Given the description of an element on the screen output the (x, y) to click on. 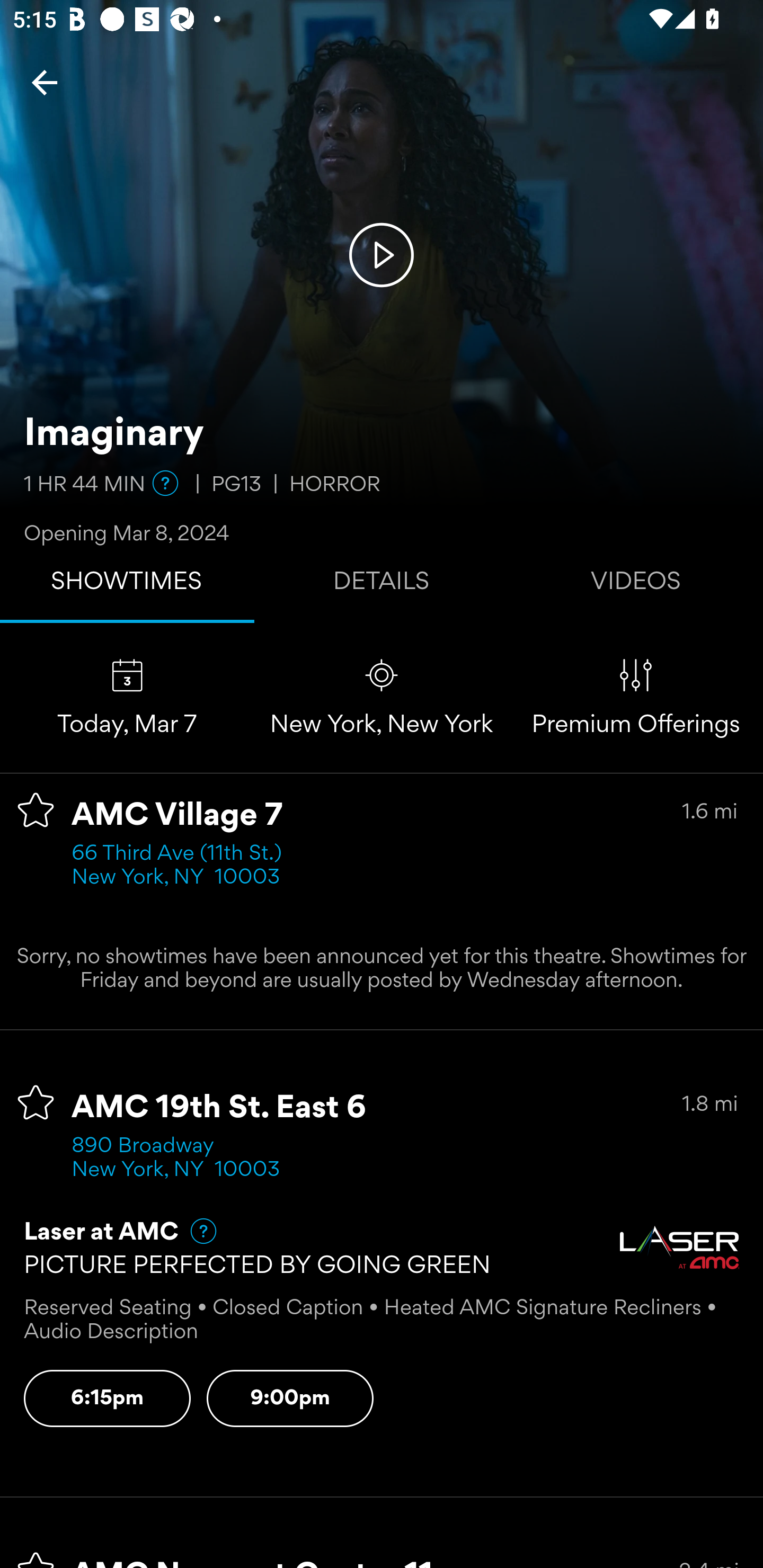
Back (44, 82)
Play (381, 254)
Help (165, 482)
SHOWTIMES
Tab 1 of 3 (127, 584)
DETAILS
Tab 2 of 3 (381, 584)
VIDEOS
Tab 3 of 3 (635, 584)
Change selected day
Today, Mar 7 (127, 697)
Change location
New York, New York (381, 697)
Premium Offerings
Premium Offerings (635, 697)
AMC Village 7 (177, 816)
66 Third Ave (11th St.)  
New York, NY  10003 (182, 866)
AMC 19th St. East 6 (219, 1108)
890 Broadway  
New York, NY  10003 (176, 1158)
Help (195, 1230)
